Given the description of an element on the screen output the (x, y) to click on. 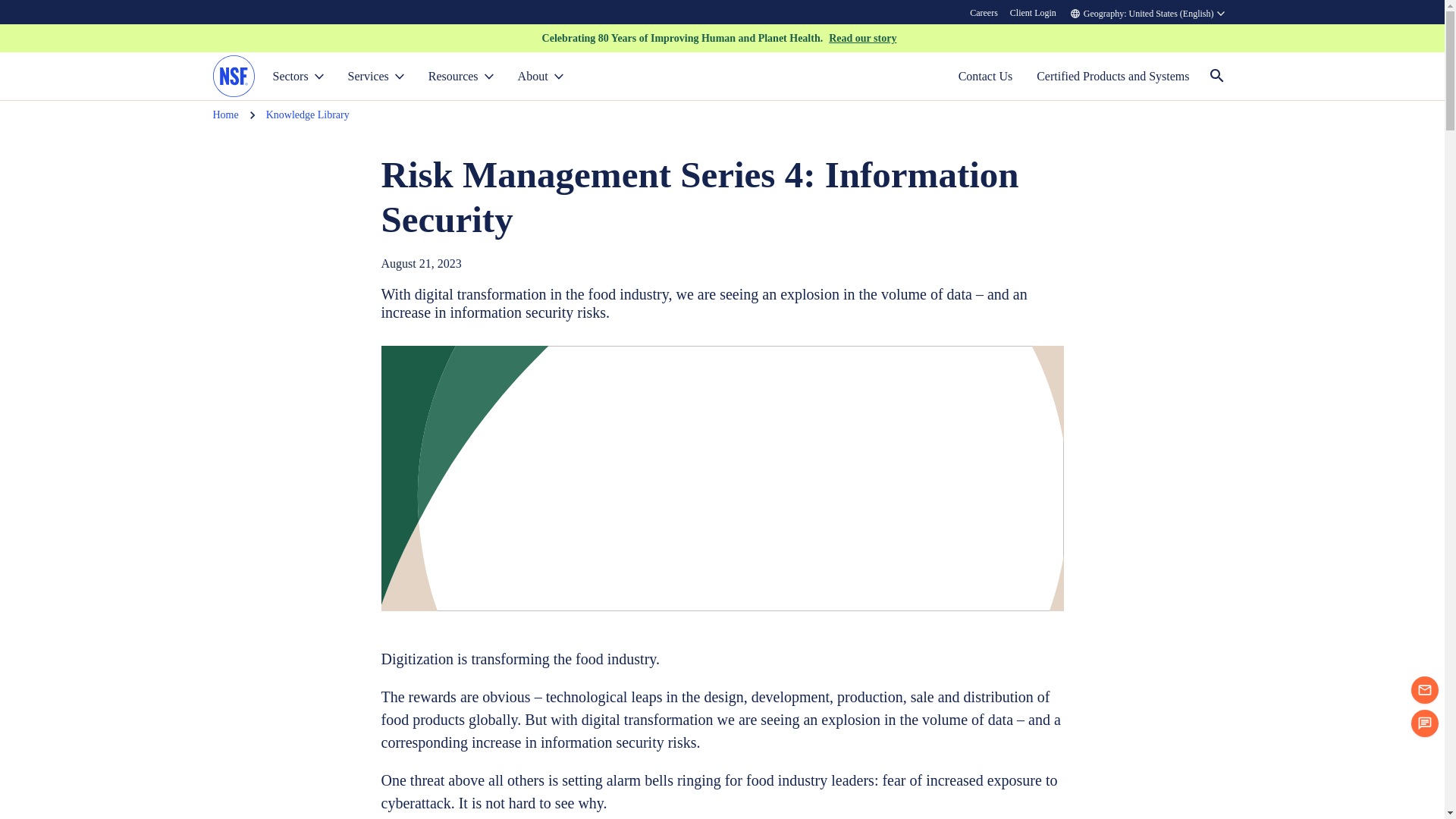
Home (225, 114)
About (540, 75)
Chat with us (1424, 723)
Careers (983, 12)
Contact Us (985, 75)
Knowledge Library (307, 114)
Client Login (1033, 12)
Sectors (298, 75)
Contact us (1424, 689)
Resources (460, 75)
